Given the description of an element on the screen output the (x, y) to click on. 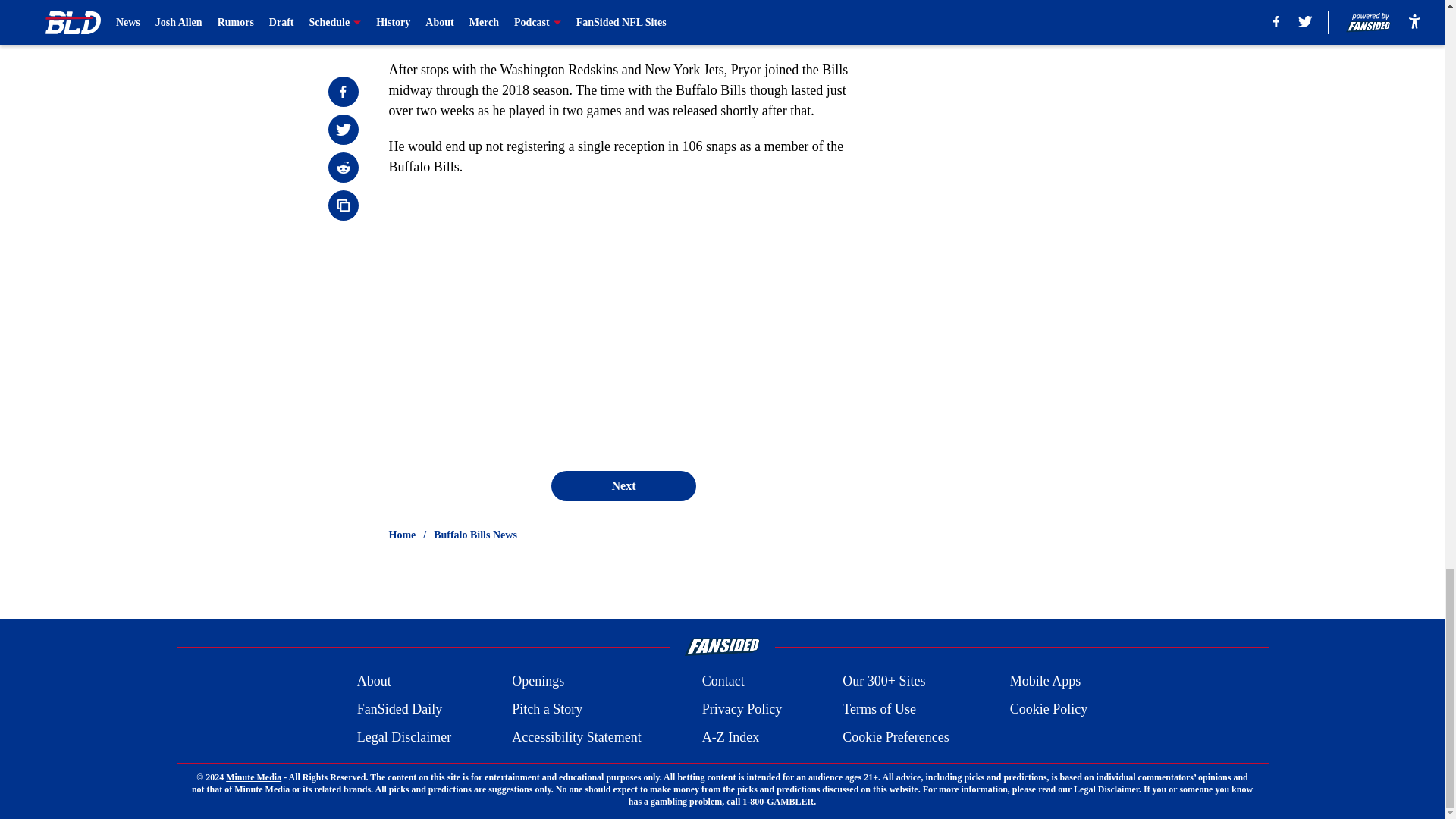
About (373, 680)
Privacy Policy (742, 709)
FanSided Daily (399, 709)
Mobile Apps (1045, 680)
Home (401, 534)
Terms of Use (879, 709)
Openings (538, 680)
Next (622, 485)
Contact (722, 680)
Buffalo Bills News (474, 534)
